Given the description of an element on the screen output the (x, y) to click on. 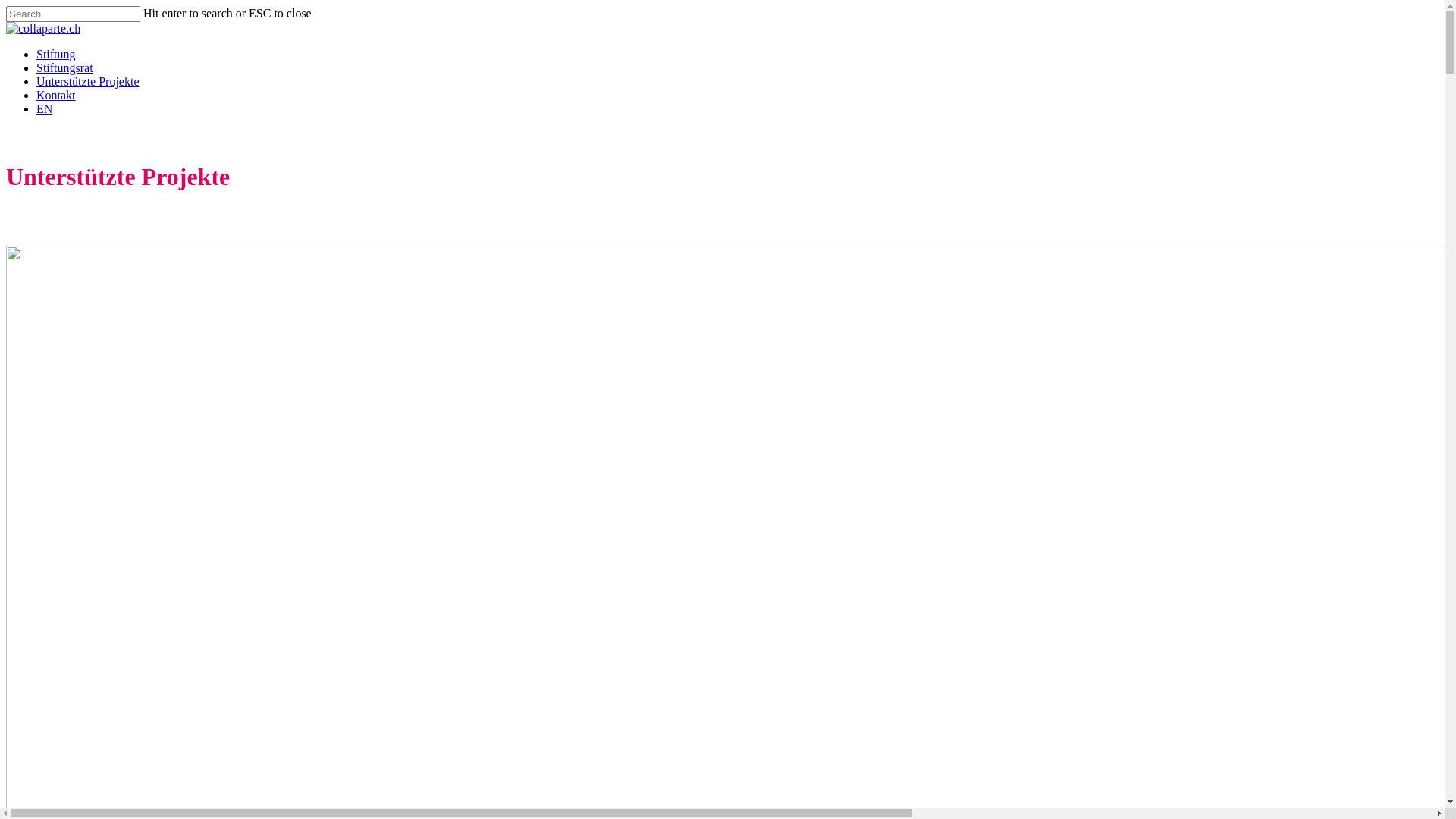
Kontakt Element type: text (55, 94)
Stiftungsrat Element type: text (64, 67)
Stiftung Element type: text (55, 53)
EN Element type: text (44, 108)
